Given the description of an element on the screen output the (x, y) to click on. 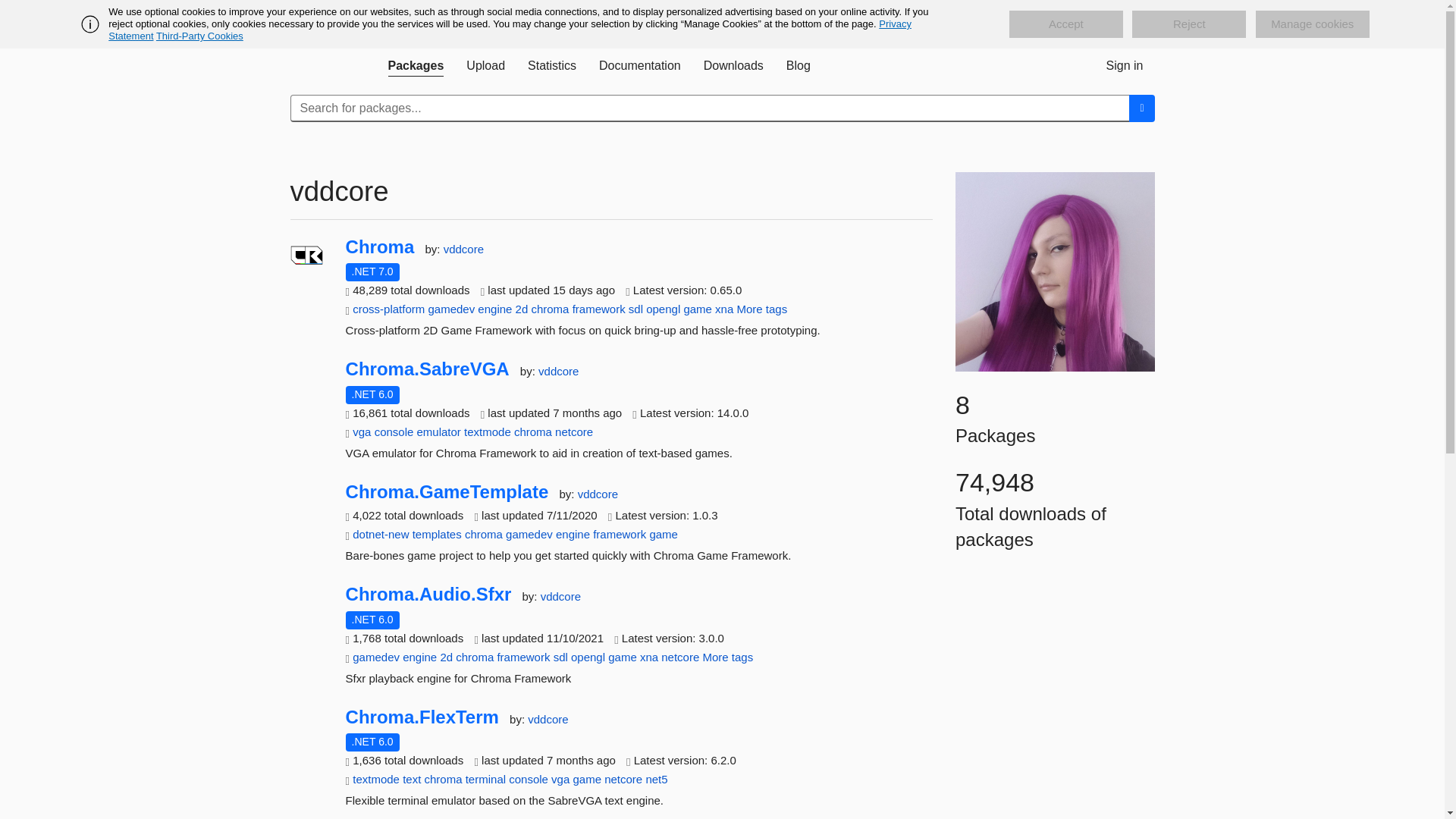
game (696, 308)
Sign in (1124, 65)
Search for engine (494, 308)
Search for chroma (550, 308)
Search for packages (1141, 108)
Third-Party Cookies (199, 35)
Search for game (696, 308)
cross-platform (388, 308)
engine (494, 308)
View vddcore's profile (558, 370)
